Given the description of an element on the screen output the (x, y) to click on. 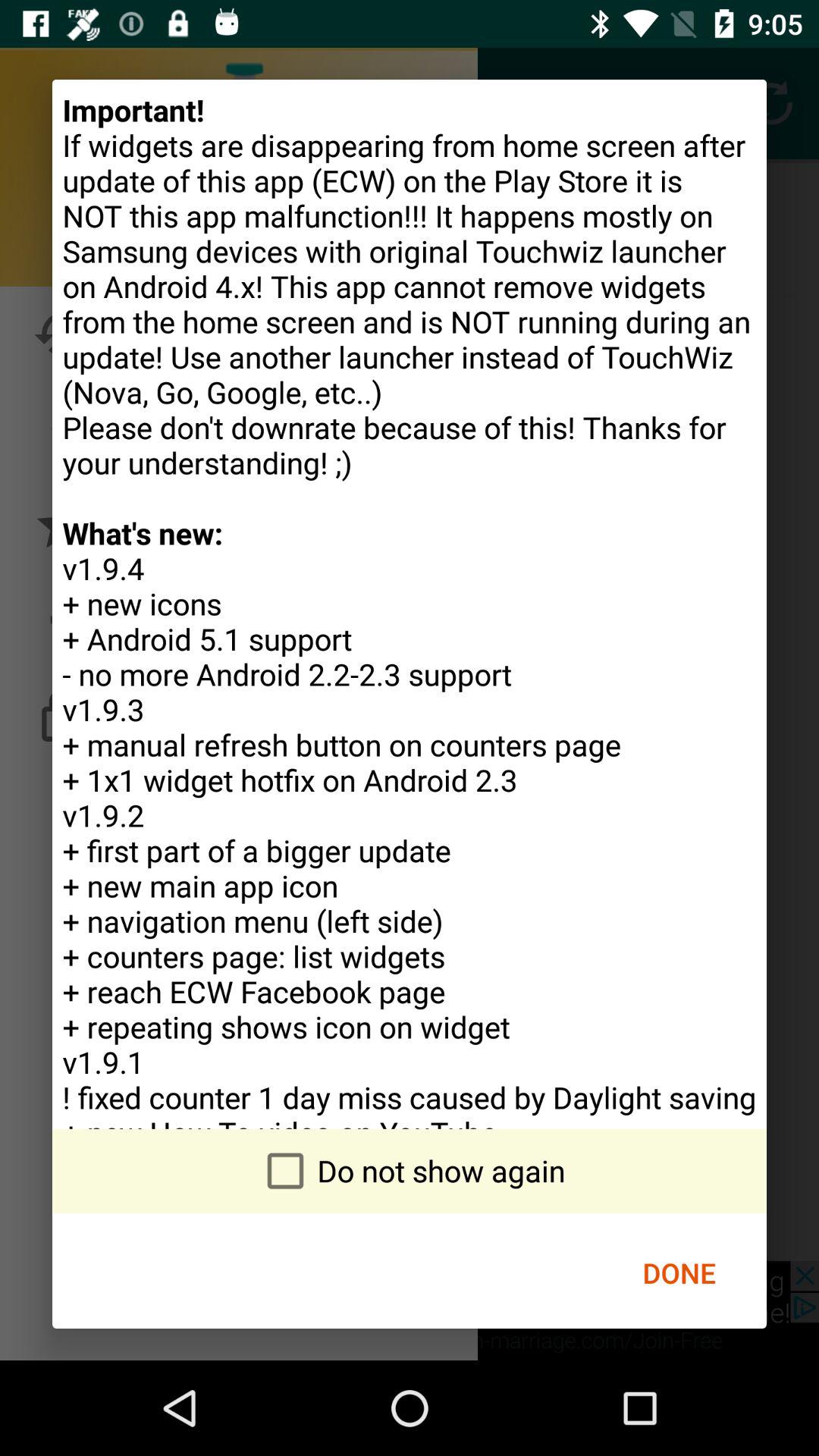
turn on the item below the important if widgets item (678, 1272)
